Given the description of an element on the screen output the (x, y) to click on. 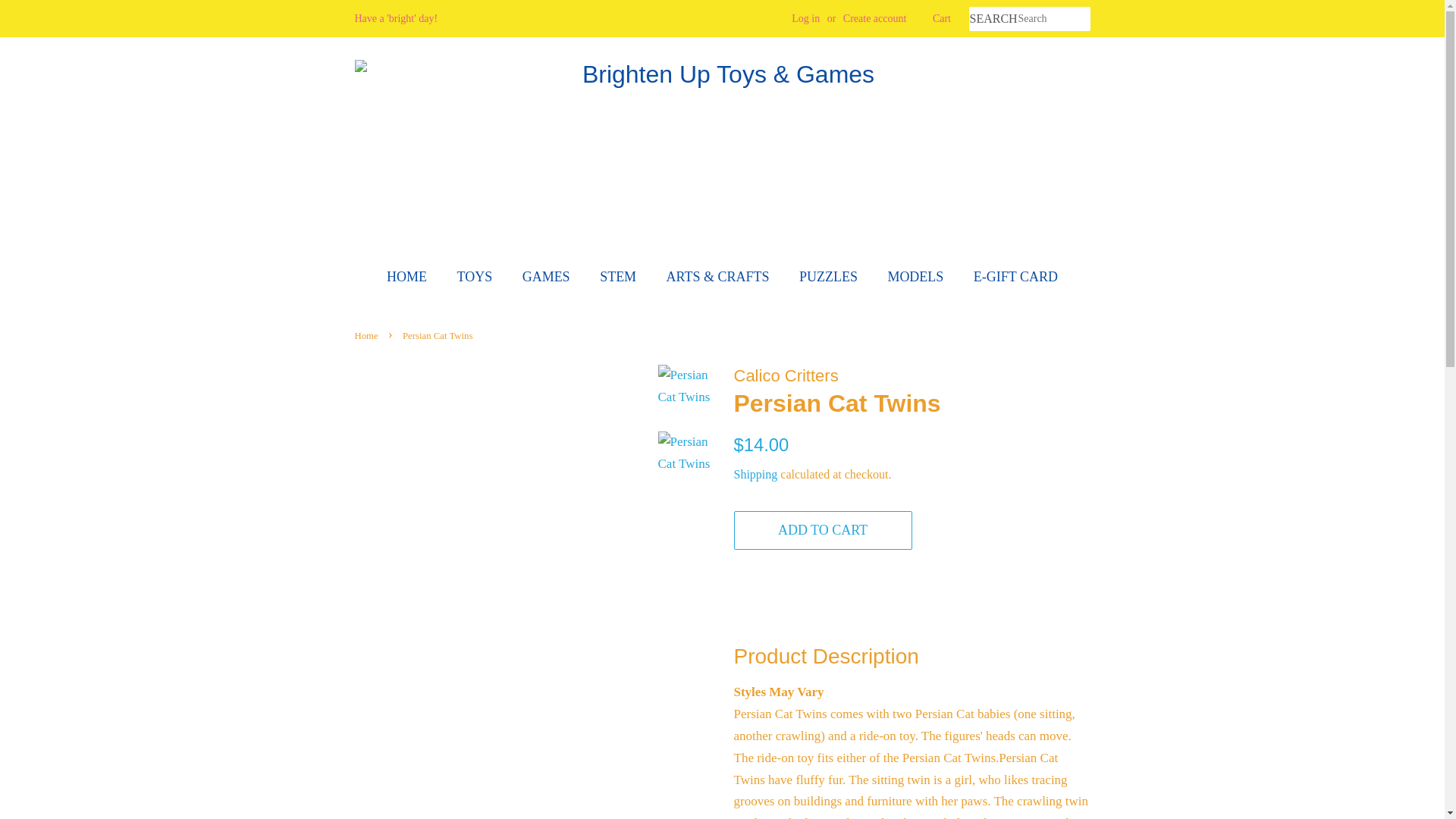
Cart (941, 18)
Back to the frontpage (368, 335)
Log in (805, 18)
Create account (875, 18)
SEARCH (993, 18)
